Given the description of an element on the screen output the (x, y) to click on. 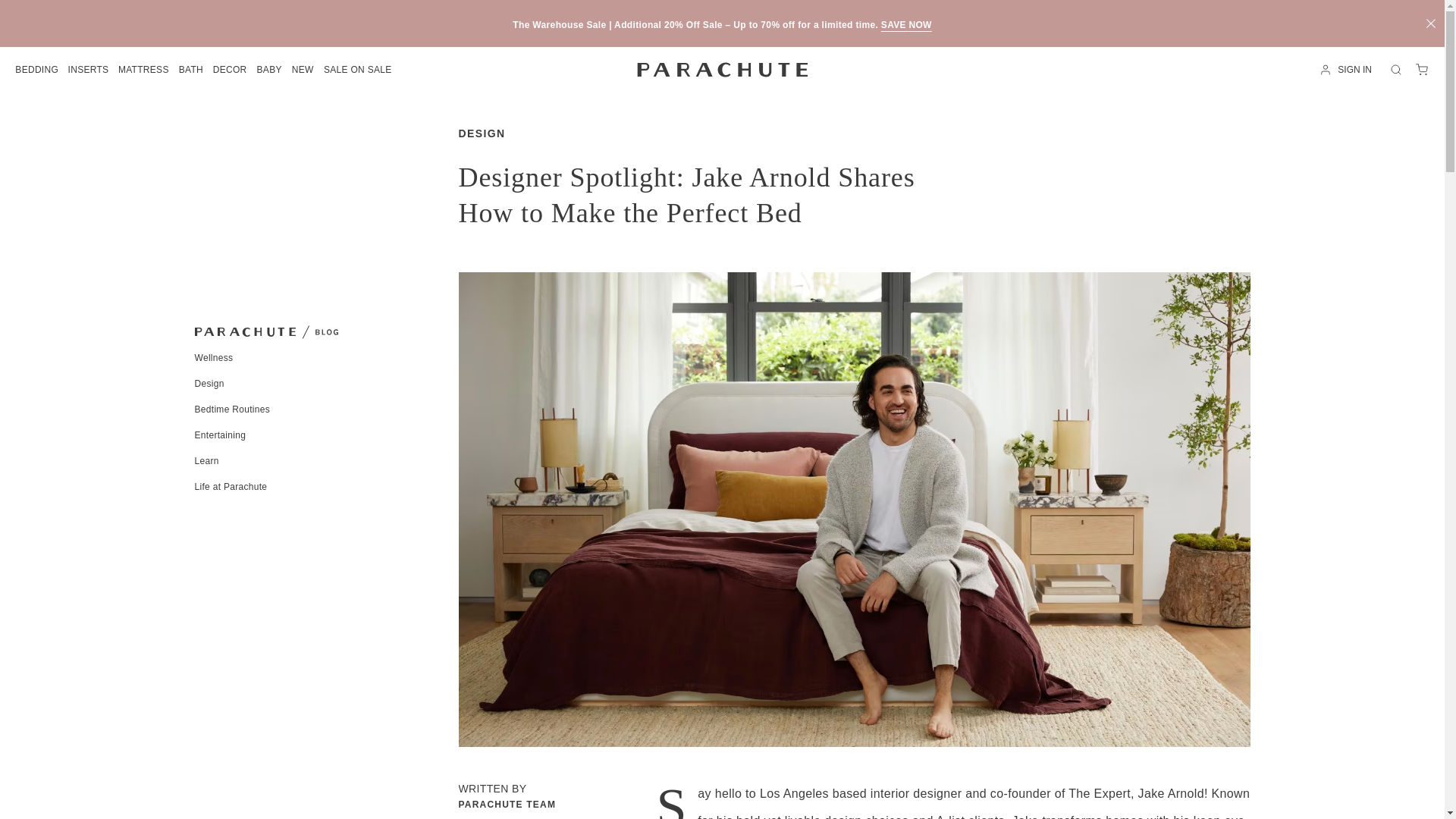
Bedtime Routines (231, 409)
SIGN IN (1348, 69)
INSERTS (86, 69)
Entertaining (219, 434)
BEDDING (36, 69)
Life at Parachute (229, 486)
NEW (303, 69)
BATH (190, 69)
Wellness (212, 357)
SALE ON SALE (358, 69)
BABY (269, 69)
close icon (1430, 23)
Design (208, 383)
MATTRESS (143, 69)
SAVE NOW (905, 24)
